Given the description of an element on the screen output the (x, y) to click on. 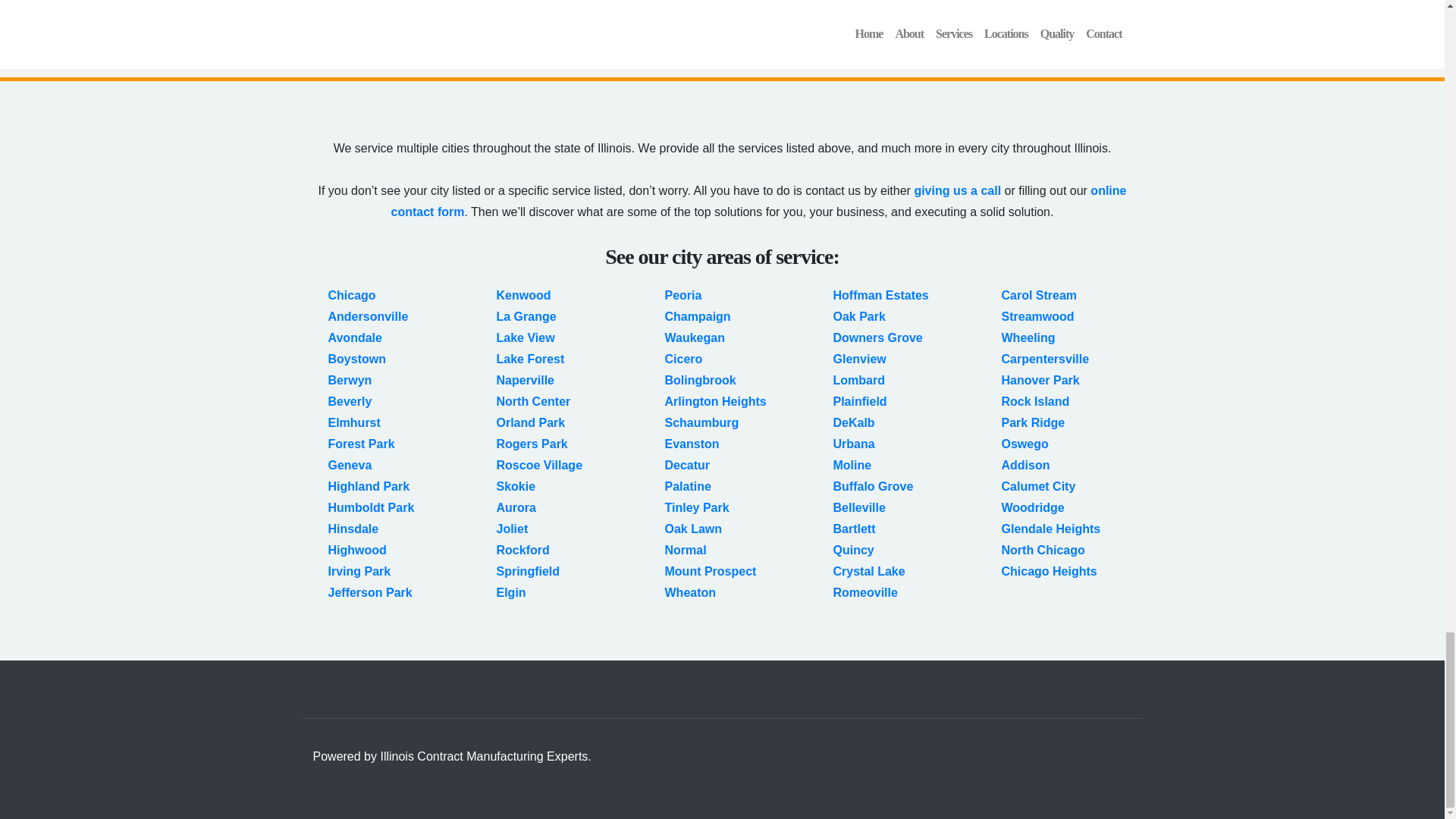
Structural Steel Bending (1060, 18)
Contract Manufacturing (817, 2)
Steel Bending (1030, 2)
Job Shop (777, 18)
